Given the description of an element on the screen output the (x, y) to click on. 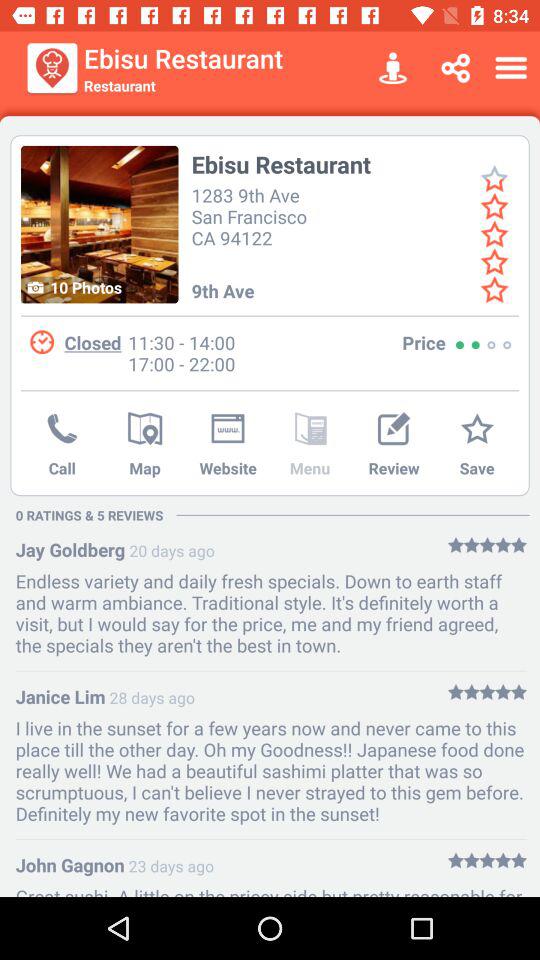
turn off item to the right of ebisu restaurant icon (392, 67)
